Given the description of an element on the screen output the (x, y) to click on. 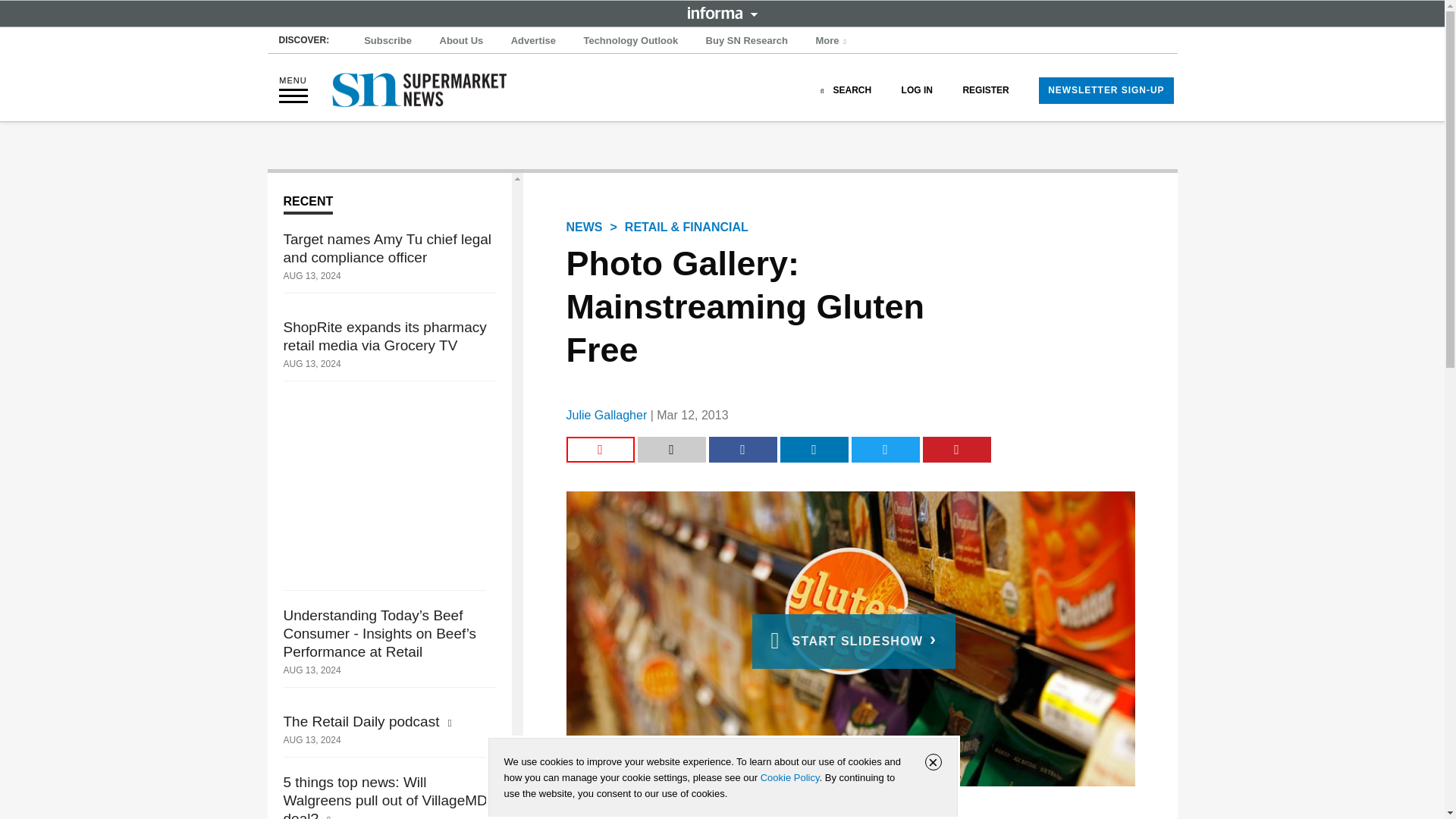
More (832, 41)
Cookie Policy (789, 777)
INFORMA (722, 12)
Technology Outlook (630, 41)
Advertise (533, 41)
Subscribe (387, 41)
About Us (461, 41)
Buy SN Research (746, 41)
